Given the description of an element on the screen output the (x, y) to click on. 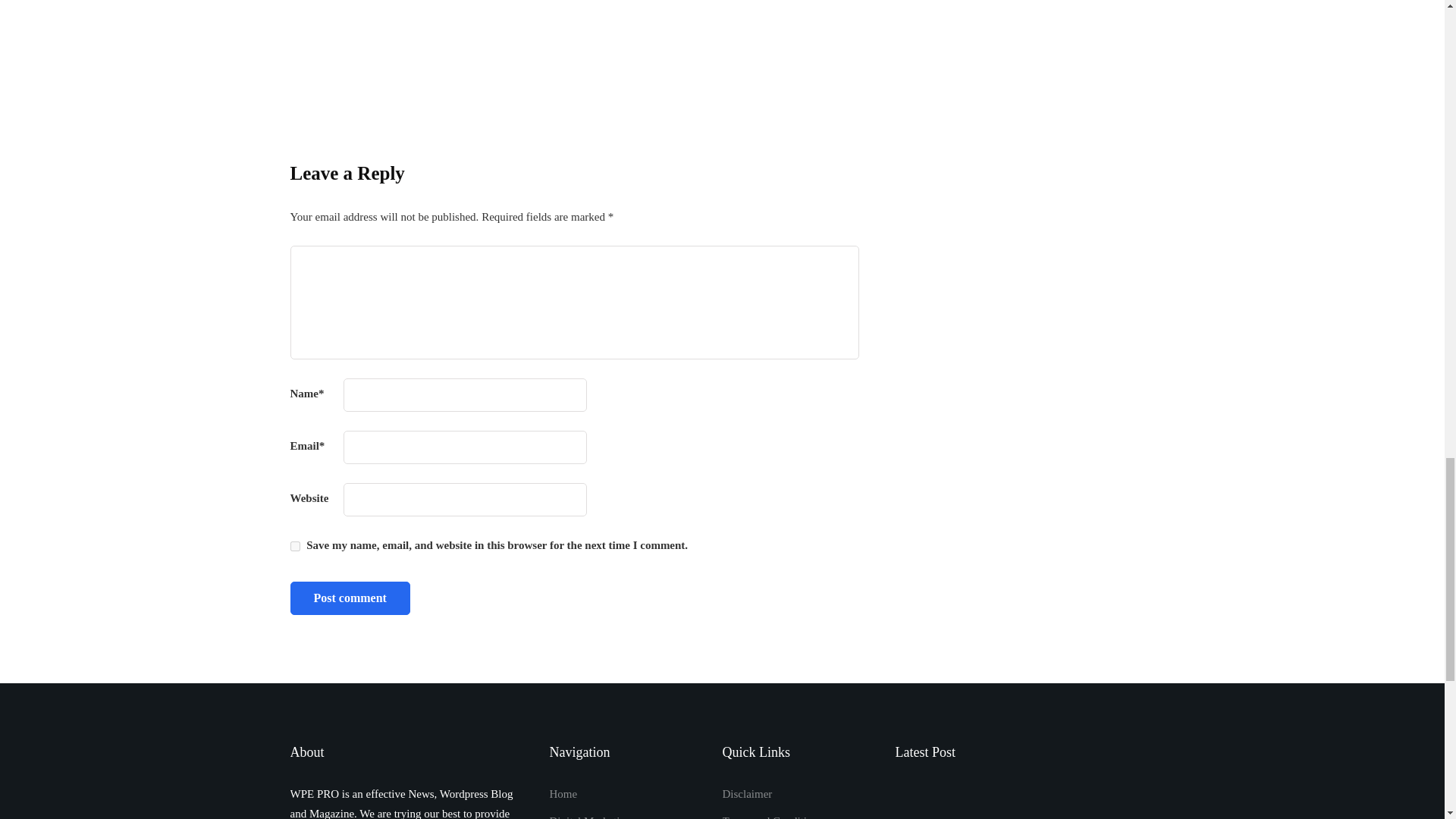
Post comment (349, 598)
yes (294, 546)
